Given the description of an element on the screen output the (x, y) to click on. 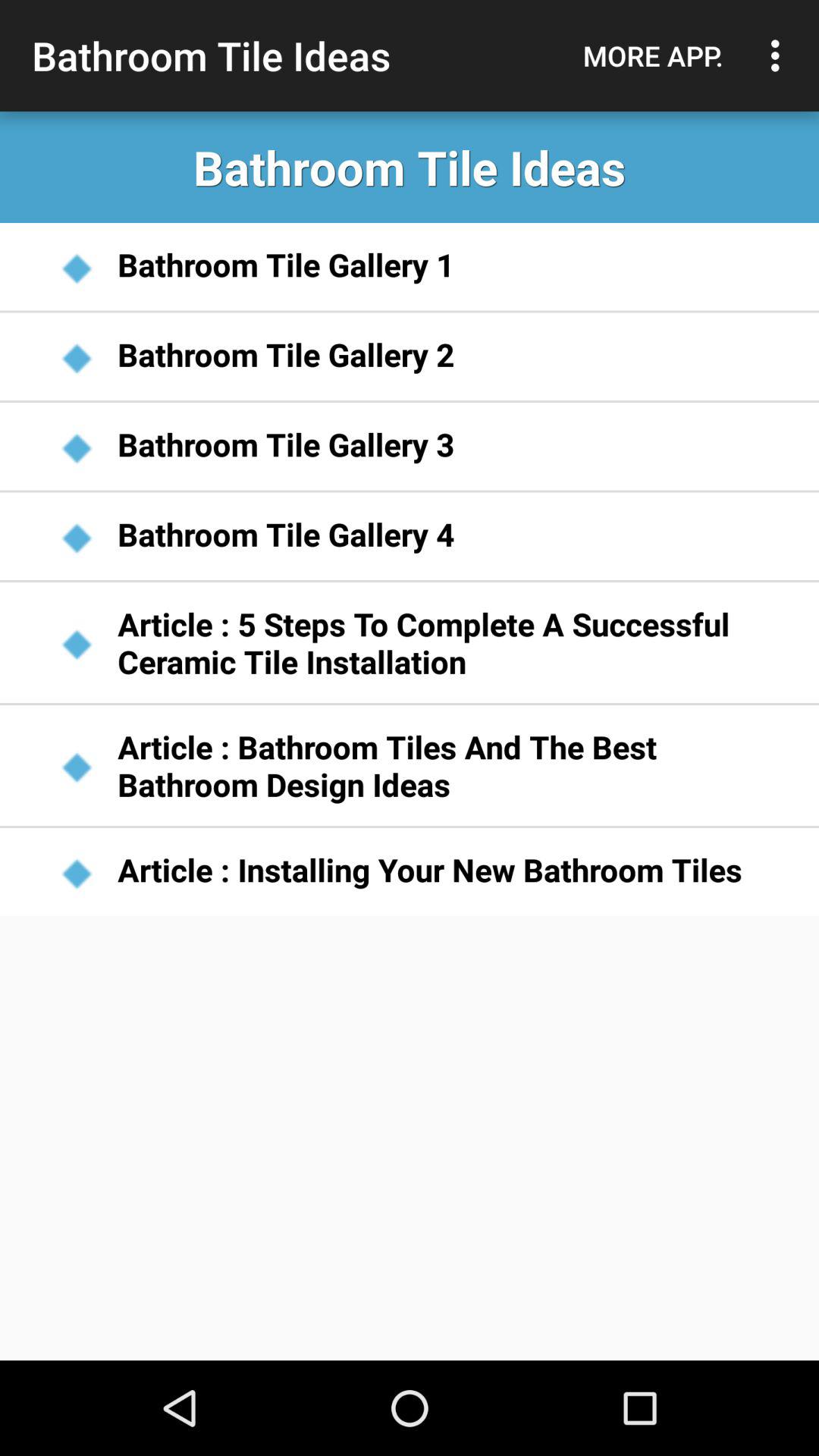
swipe until more app. item (653, 55)
